Given the description of an element on the screen output the (x, y) to click on. 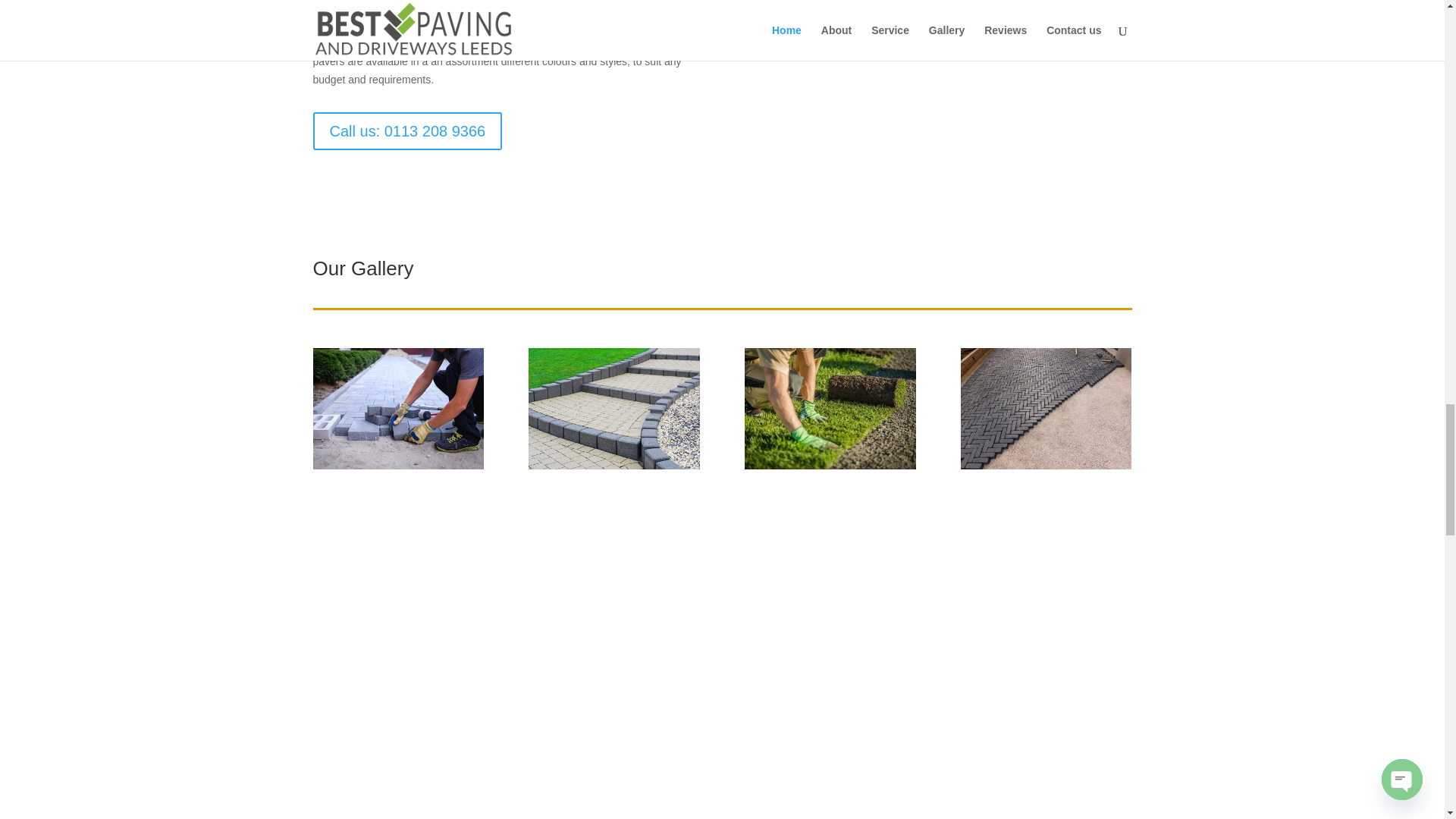
Call us: 0113 208 9366 (407, 130)
Best-Landscaping-leeds. (829, 465)
Best-block-pavers (613, 465)
Professional-Block-paving-leeds (1045, 465)
Pudsey-paving-company (398, 465)
